Given the description of an element on the screen output the (x, y) to click on. 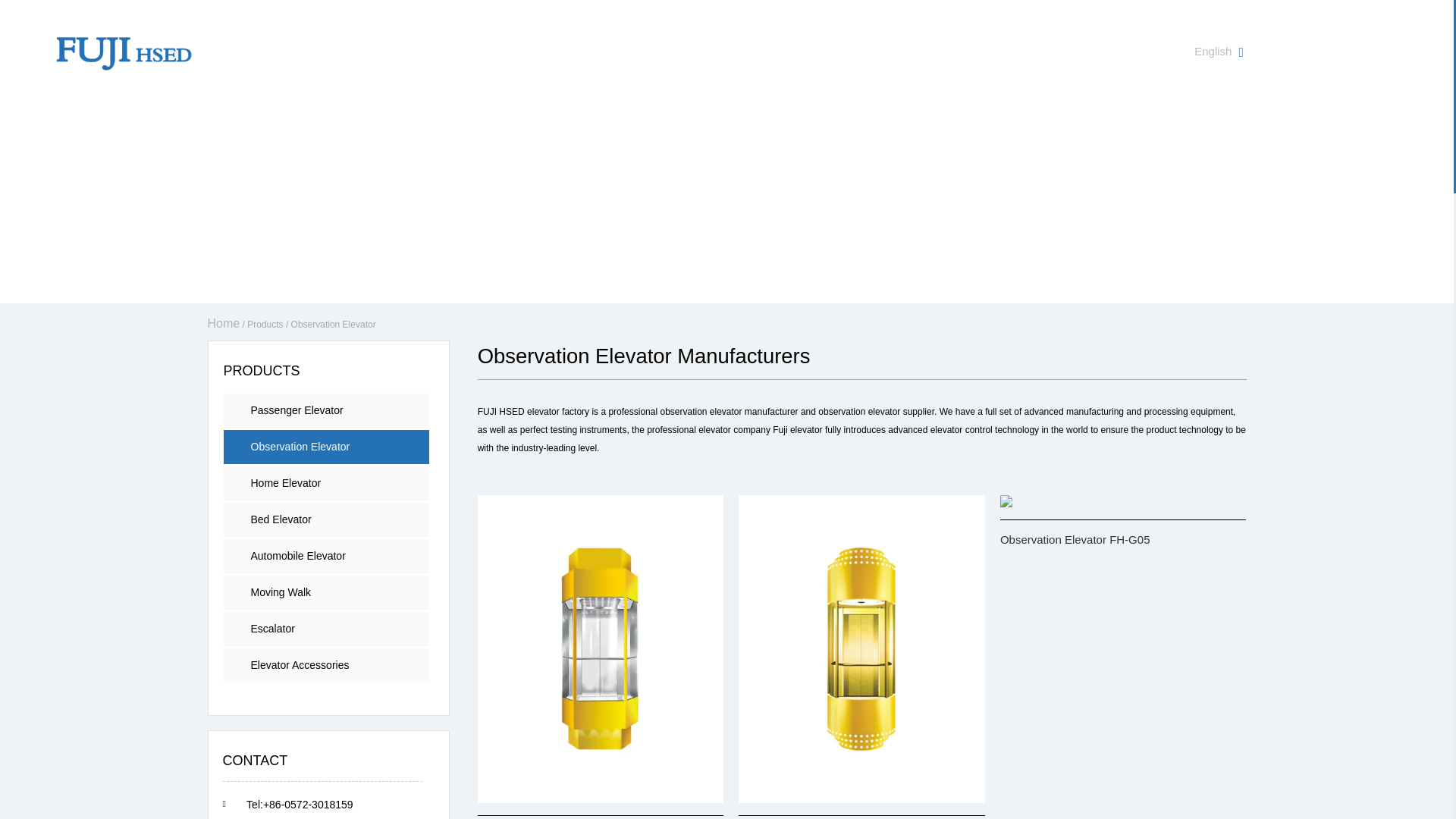
News (529, 53)
About Us (341, 53)
Faq (605, 53)
HUZHOU FUJI ELEVATOR CO.,LTD. (124, 52)
Home (250, 53)
Contact Us (695, 53)
Products (440, 53)
Observation Elevator FH-G05 (1005, 500)
